Given the description of an element on the screen output the (x, y) to click on. 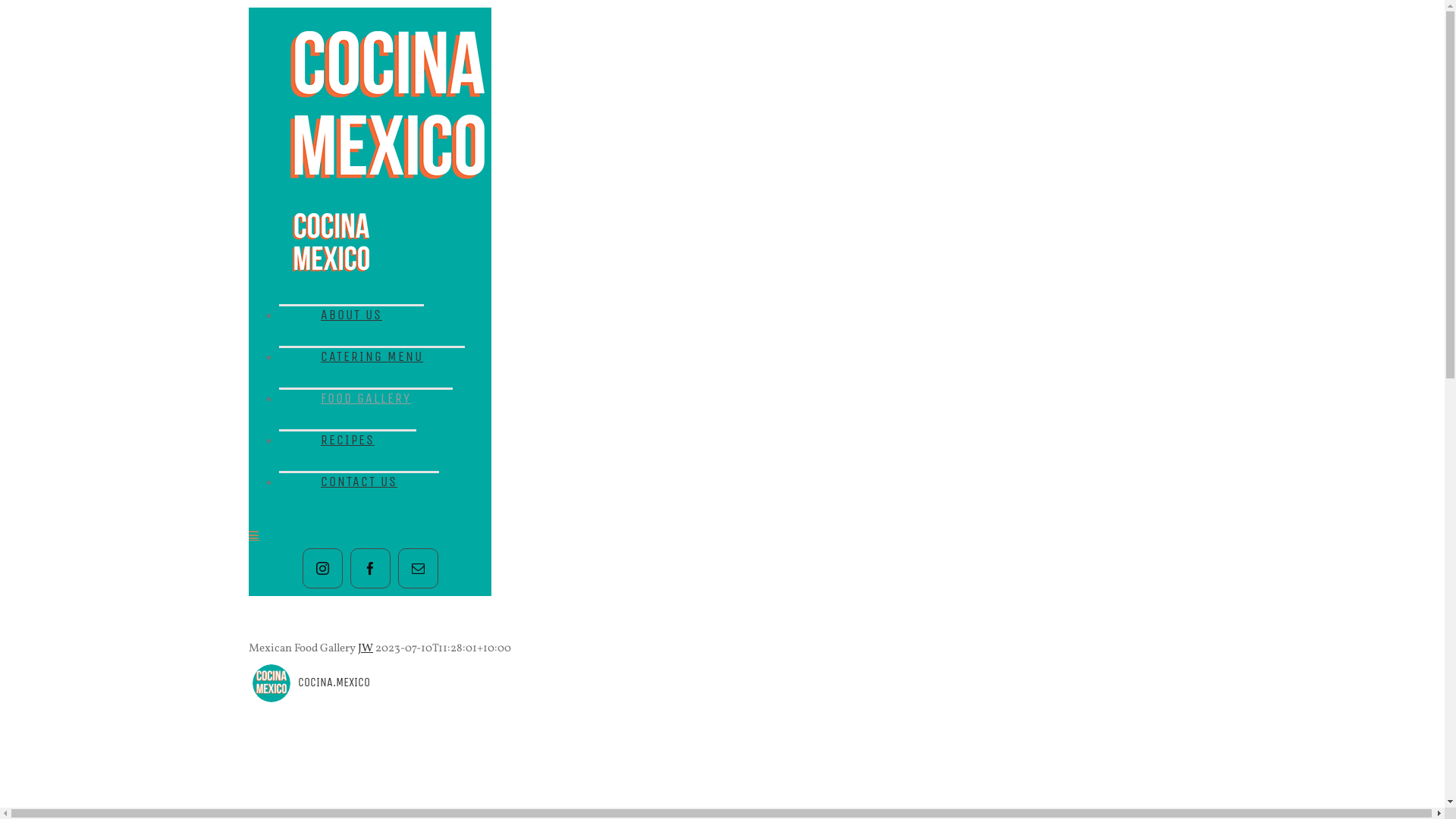
JW Element type: text (365, 648)
Instagram Element type: text (321, 568)
Email Element type: text (417, 568)
COCINA.MEXICO Element type: text (847, 683)
RECIPES Element type: text (347, 438)
CONTACT US Element type: text (359, 479)
ABOUT US Element type: text (351, 313)
FOOD GALLERY Element type: text (365, 396)
CATERING MENU Element type: text (371, 354)
Facebook Element type: text (370, 568)
Skip to content Element type: text (5, 6)
